Given the description of an element on the screen output the (x, y) to click on. 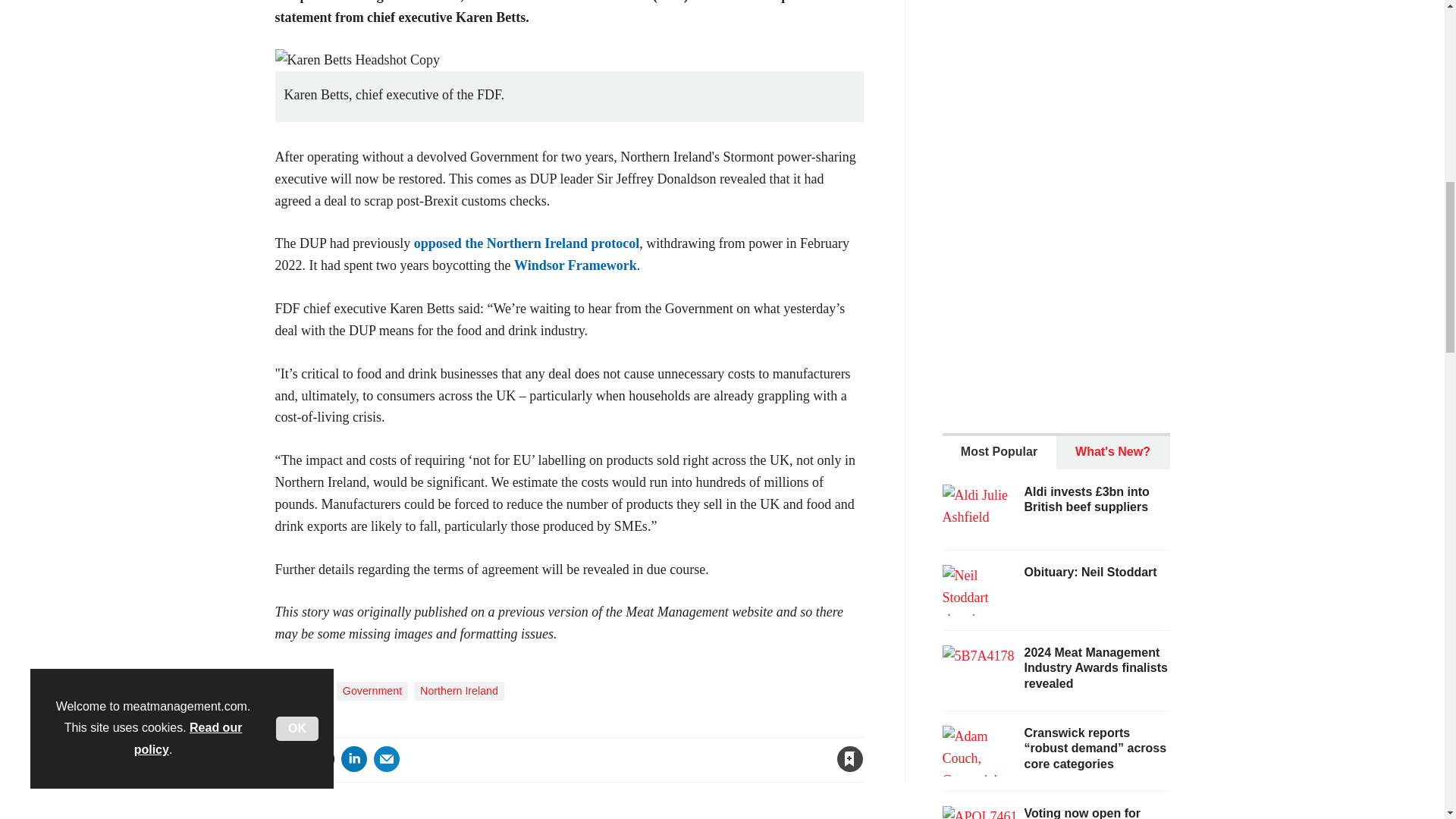
Email this article (386, 759)
Share this on Facebook (288, 759)
Share this on LinkedIn (352, 759)
